Given the description of an element on the screen output the (x, y) to click on. 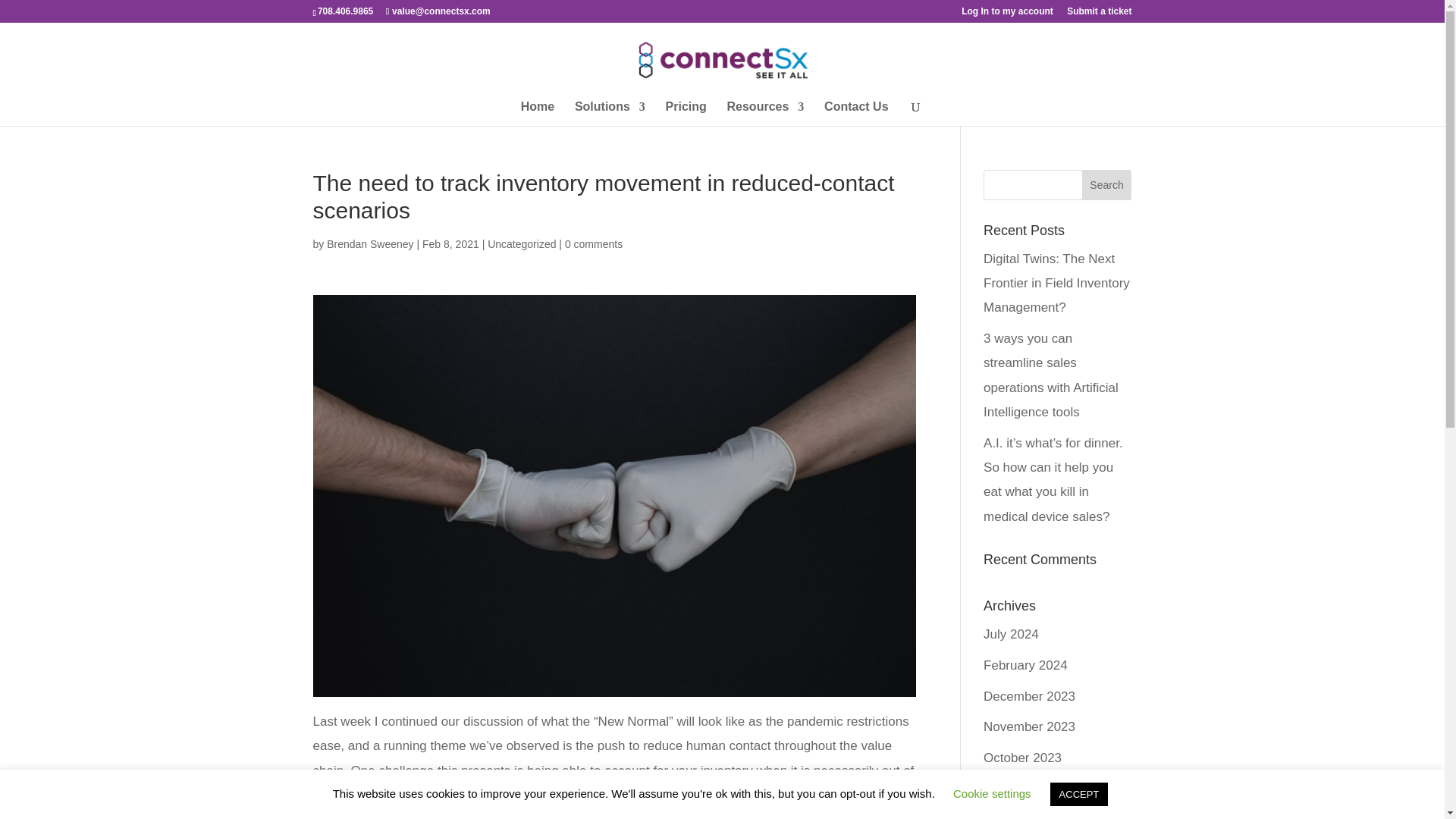
Log In to my account (1006, 14)
Solutions (610, 113)
Contact Us (856, 113)
Pricing (685, 113)
Posts by Brendan Sweeney (369, 244)
Resources (765, 113)
Submit a ticket (1099, 14)
0 comments (593, 244)
Brendan Sweeney (369, 244)
